Given the description of an element on the screen output the (x, y) to click on. 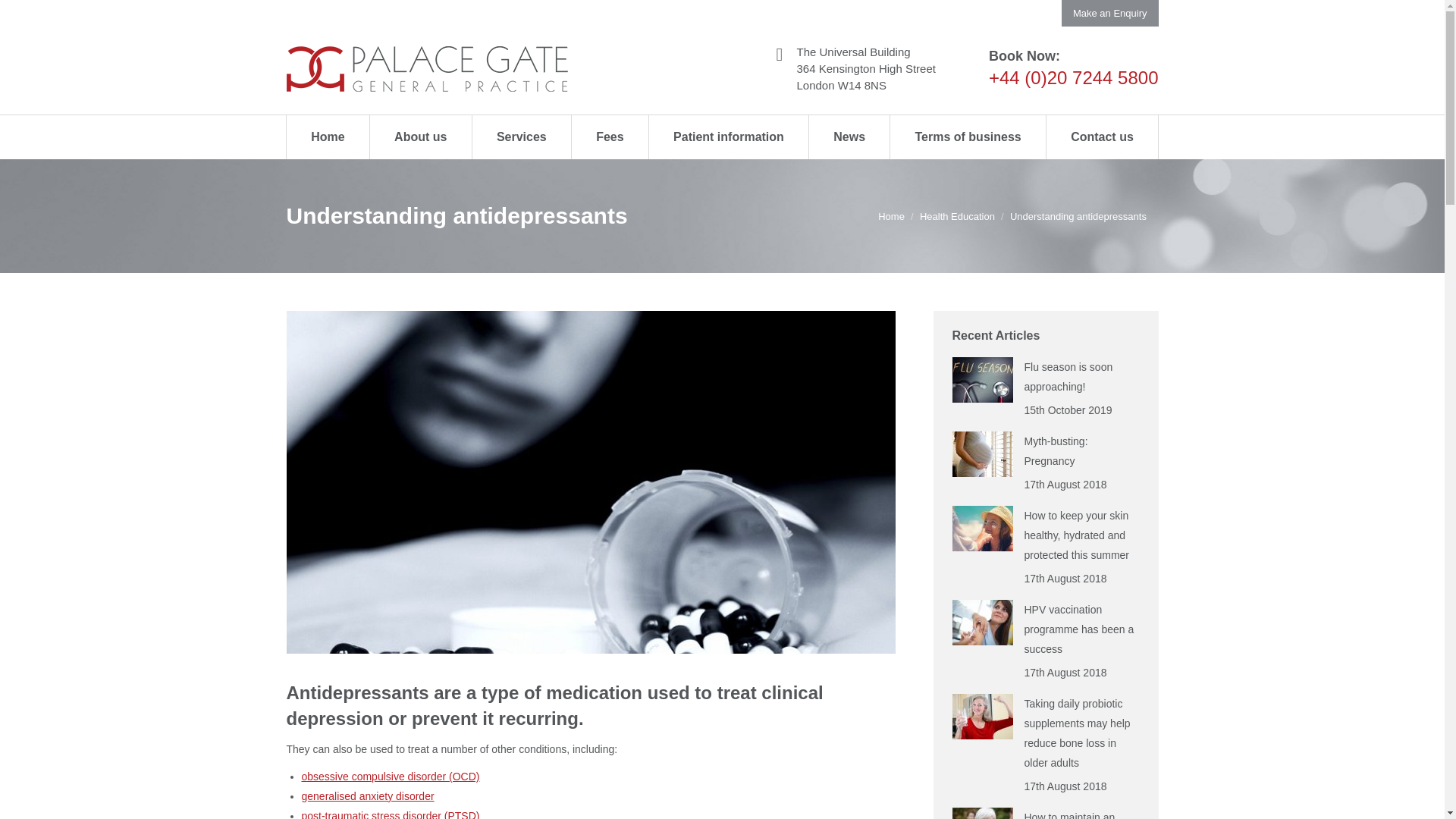
Home (890, 215)
Fees (608, 136)
Contact us (1101, 136)
Patient information (727, 136)
Make an Enquiry (1109, 13)
News (849, 136)
Terms of business (967, 136)
Services (520, 136)
Home (327, 136)
About us (420, 136)
Health Education (957, 215)
Make an Enquiry (1109, 13)
